Given the description of an element on the screen output the (x, y) to click on. 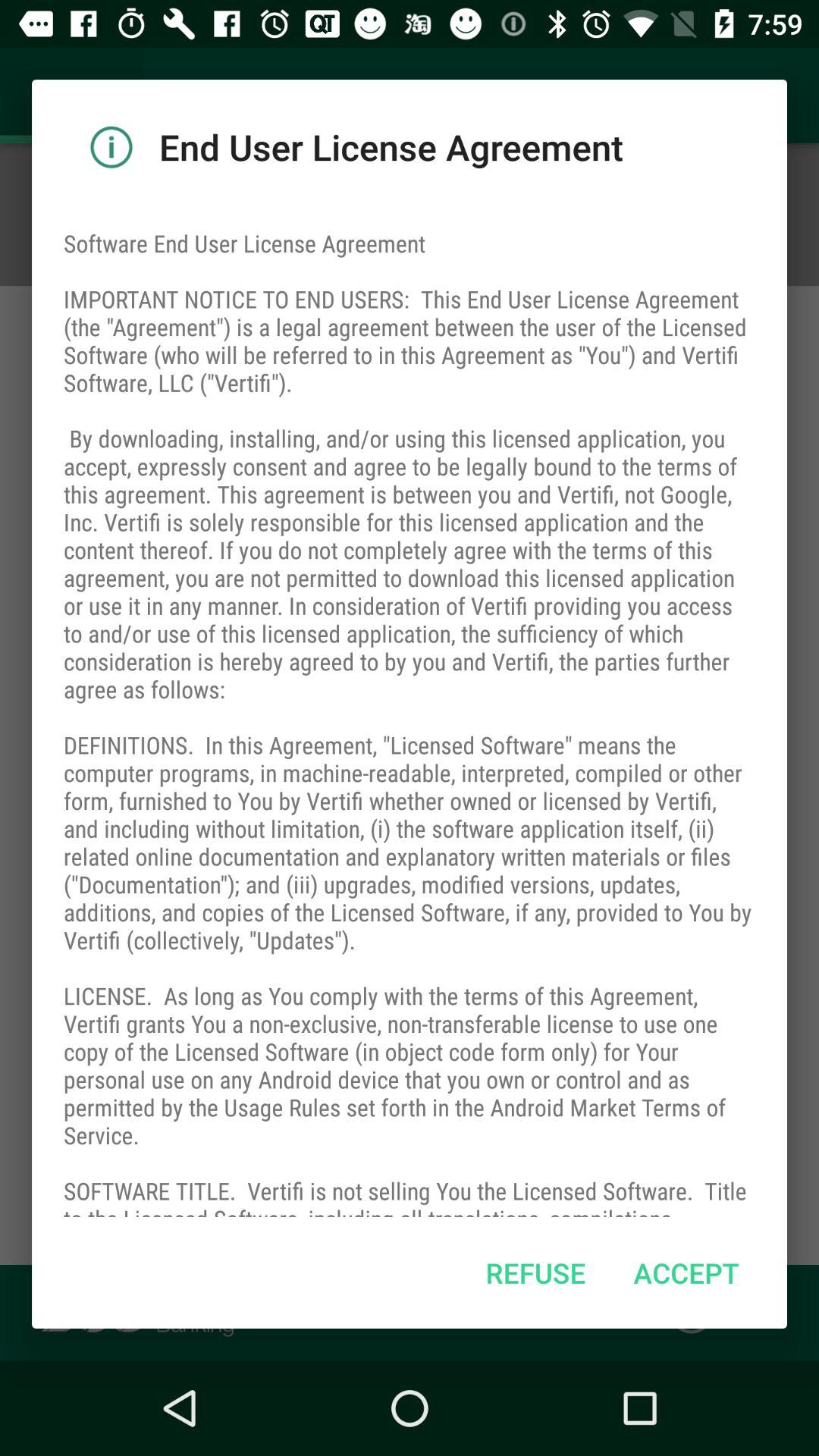
tap accept icon (686, 1272)
